Given the description of an element on the screen output the (x, y) to click on. 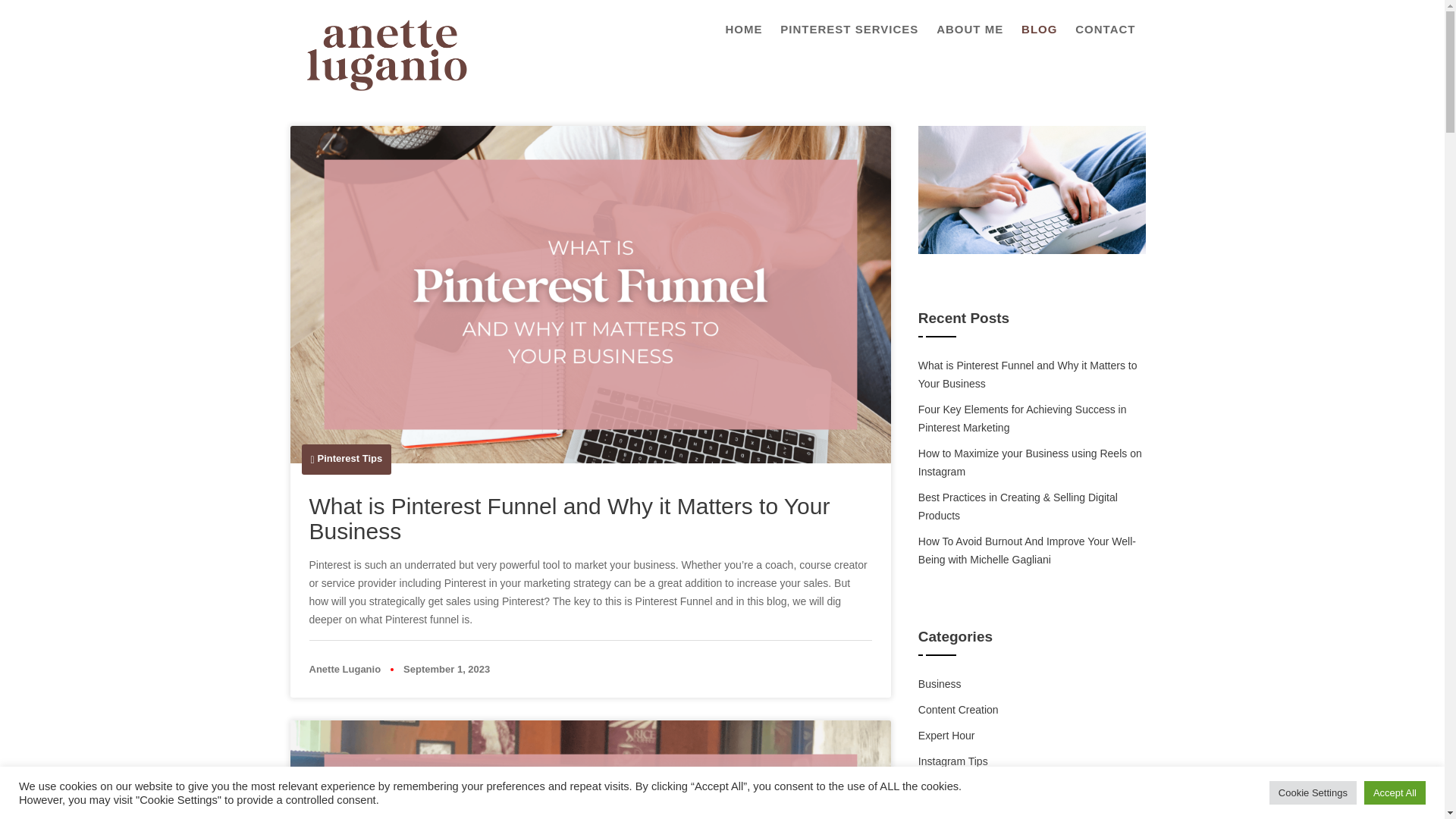
BLOG (1038, 28)
CONTACT (1104, 28)
Anette Luganio (344, 668)
September 1, 2023 (446, 668)
ABOUT ME (969, 28)
PINTEREST SERVICES (849, 28)
HOME (743, 28)
Pinterest Tips (349, 458)
What is Pinterest Funnel and Why it Matters to Your Business (568, 518)
